Given the description of an element on the screen output the (x, y) to click on. 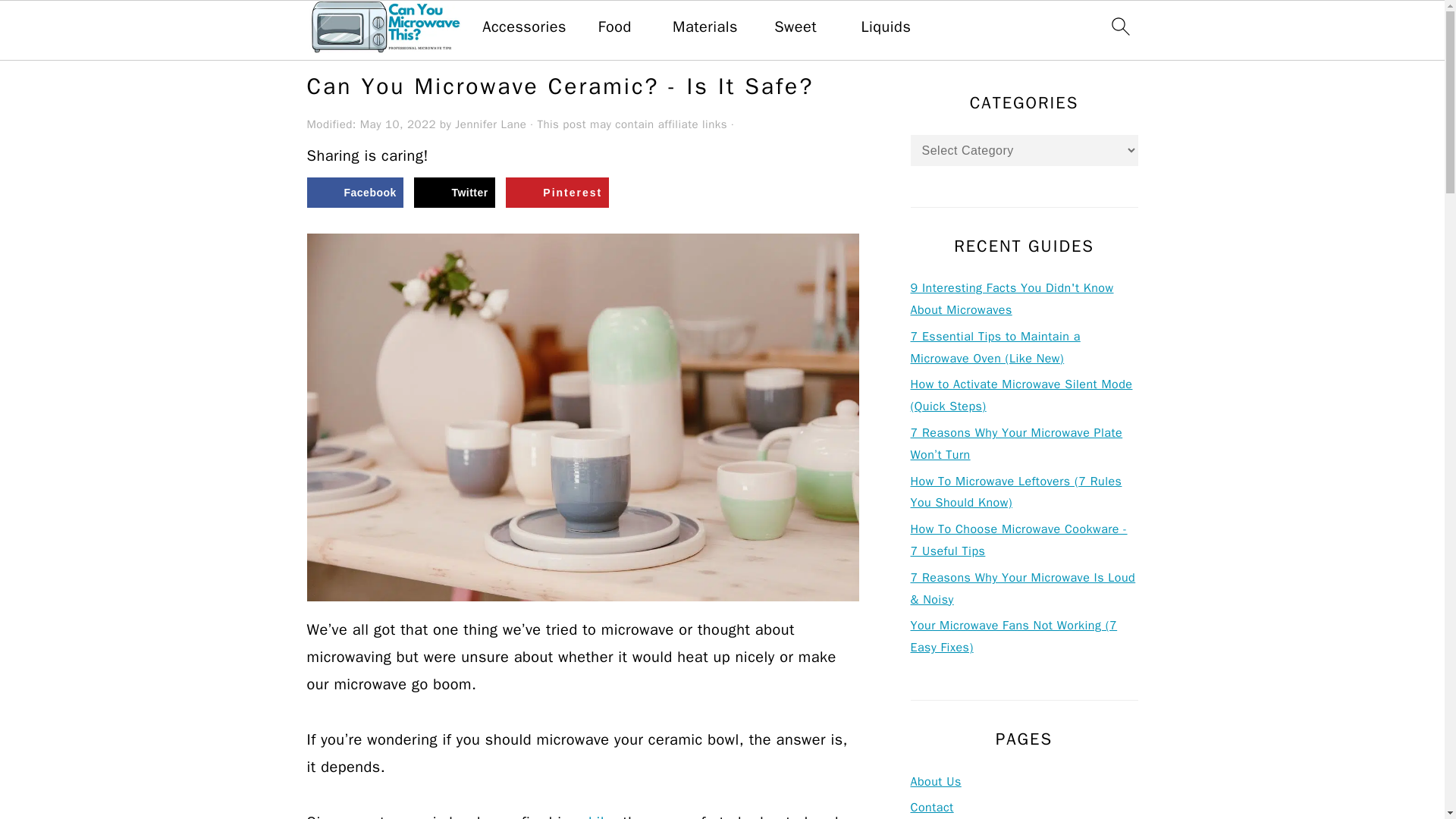
Accessories (523, 27)
Food (614, 27)
Share on Facebook (354, 192)
Can You Microwave Ceramic? - Is It Safe? 1 (582, 587)
Materials (705, 27)
Sweet (795, 27)
Liquids (885, 27)
Save to Pinterest (556, 192)
Share on X (454, 192)
